Given the description of an element on the screen output the (x, y) to click on. 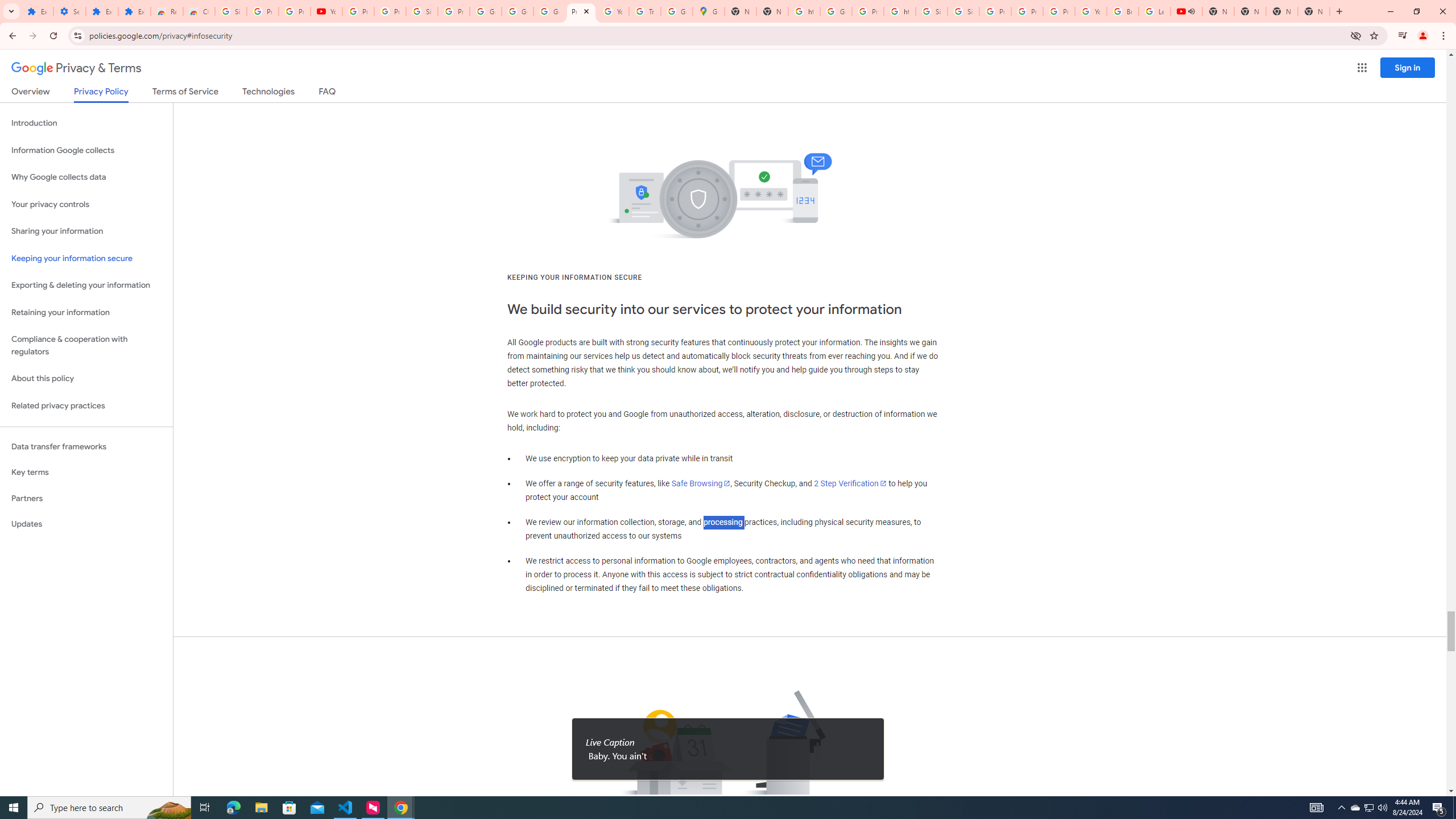
Your privacy controls (86, 204)
Privacy Policy (100, 94)
Data transfer frameworks (86, 446)
Mute tab (1190, 10)
Related privacy practices (86, 405)
Sign in - Google Accounts (421, 11)
Safe Browsing (700, 483)
Address and search bar (715, 35)
Google Account (517, 11)
Extensions (101, 11)
